Given the description of an element on the screen output the (x, y) to click on. 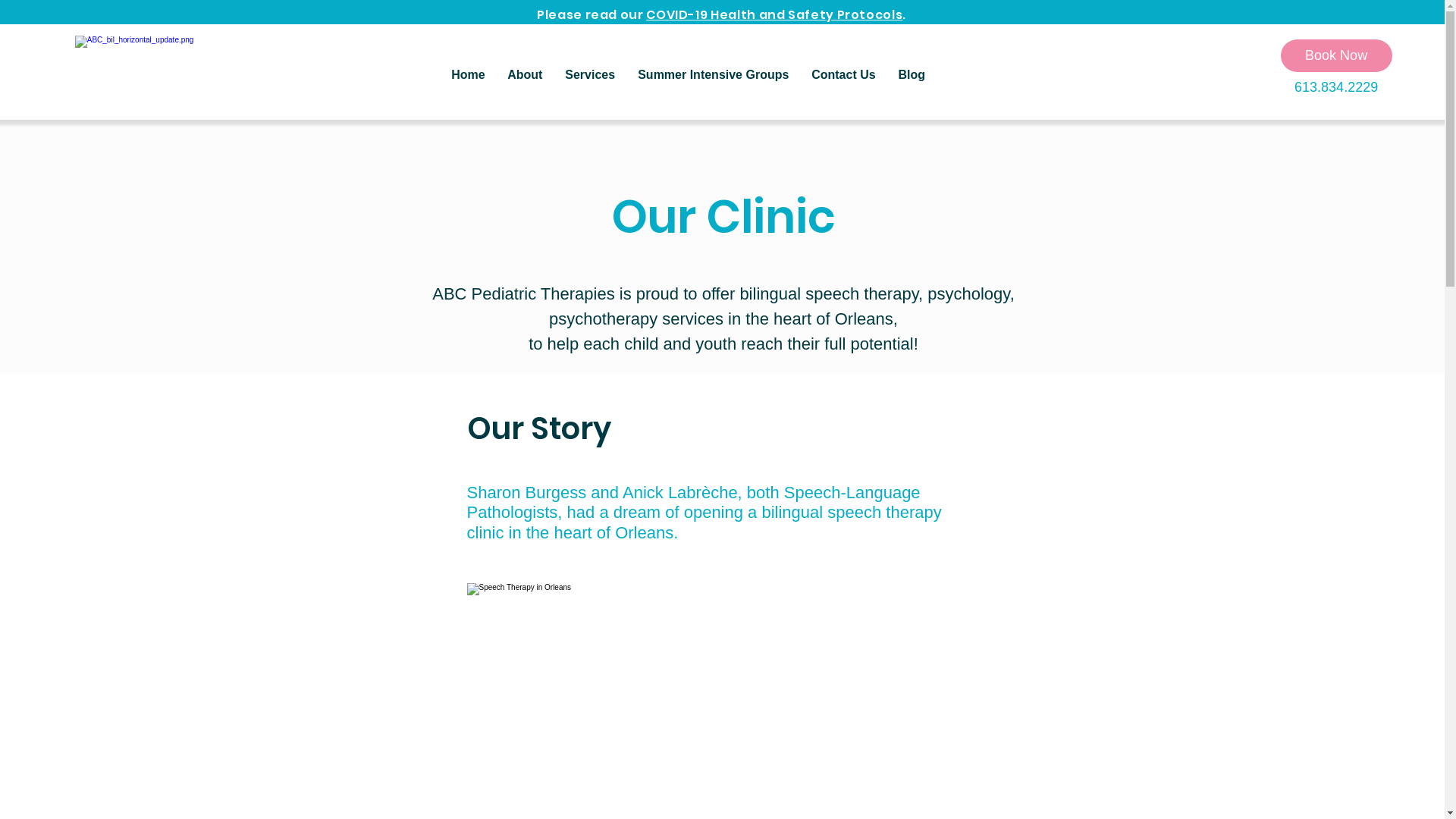
Summer Intensive Groups Element type: text (713, 75)
Contact Us Element type: text (843, 75)
613.834.2229 Element type: text (1335, 86)
Book Now Element type: text (1336, 55)
Blog Element type: text (911, 75)
Home Element type: text (467, 75)
COVID-19 Health and Safety Protocols Element type: text (774, 14)
